Given the description of an element on the screen output the (x, y) to click on. 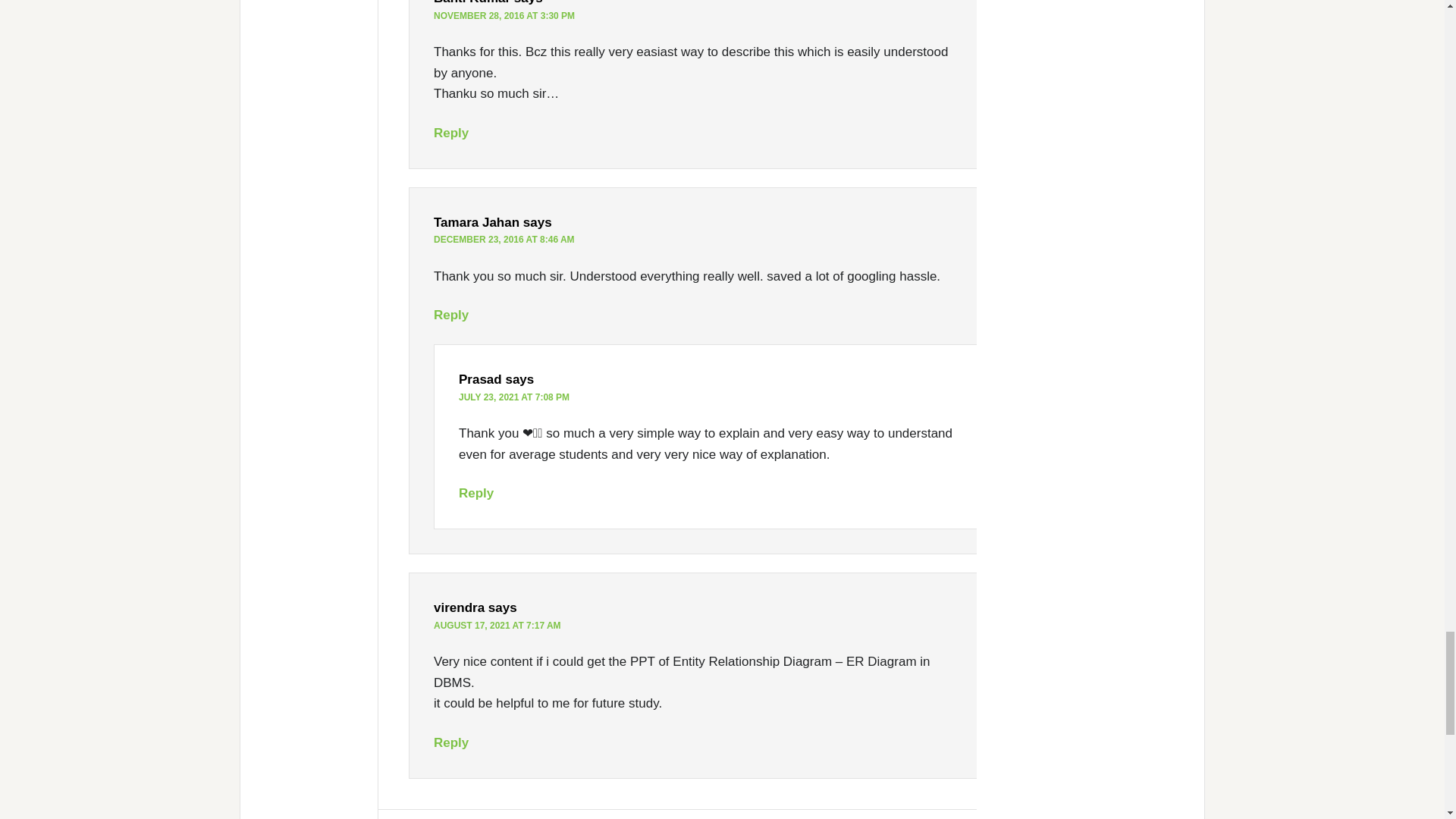
Reply (450, 133)
Reply (450, 314)
NOVEMBER 28, 2016 AT 3:30 PM (504, 15)
DECEMBER 23, 2016 AT 8:46 AM (504, 239)
